Given the description of an element on the screen output the (x, y) to click on. 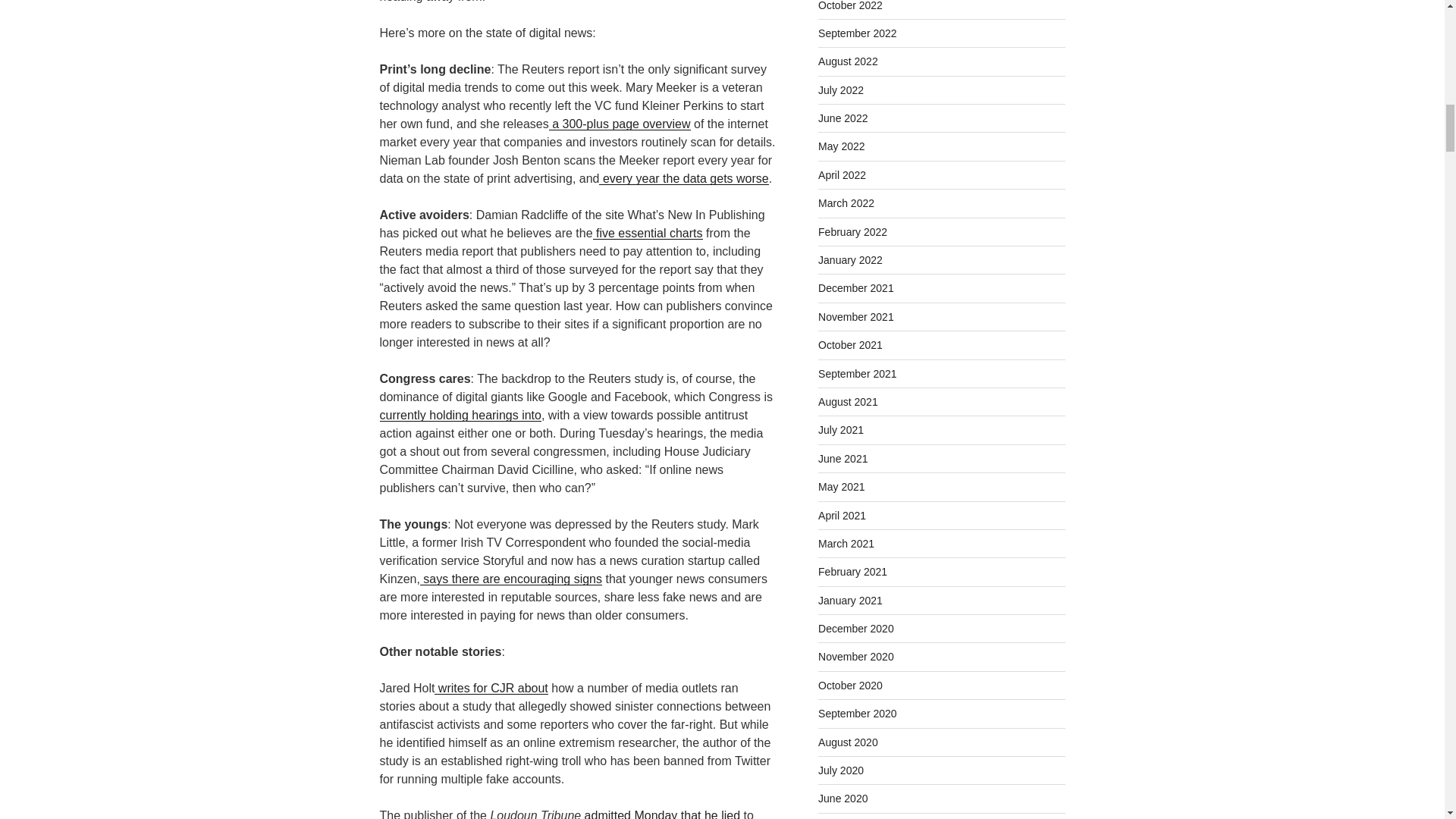
five essential charts (647, 232)
writes for CJR about (490, 687)
says there are encouraging signs (511, 578)
currently holding hearings into (575, 423)
a 300-plus page overview (619, 123)
every year the data gets worse (683, 178)
admitted Monday that he lied (659, 814)
